Given the description of an element on the screen output the (x, y) to click on. 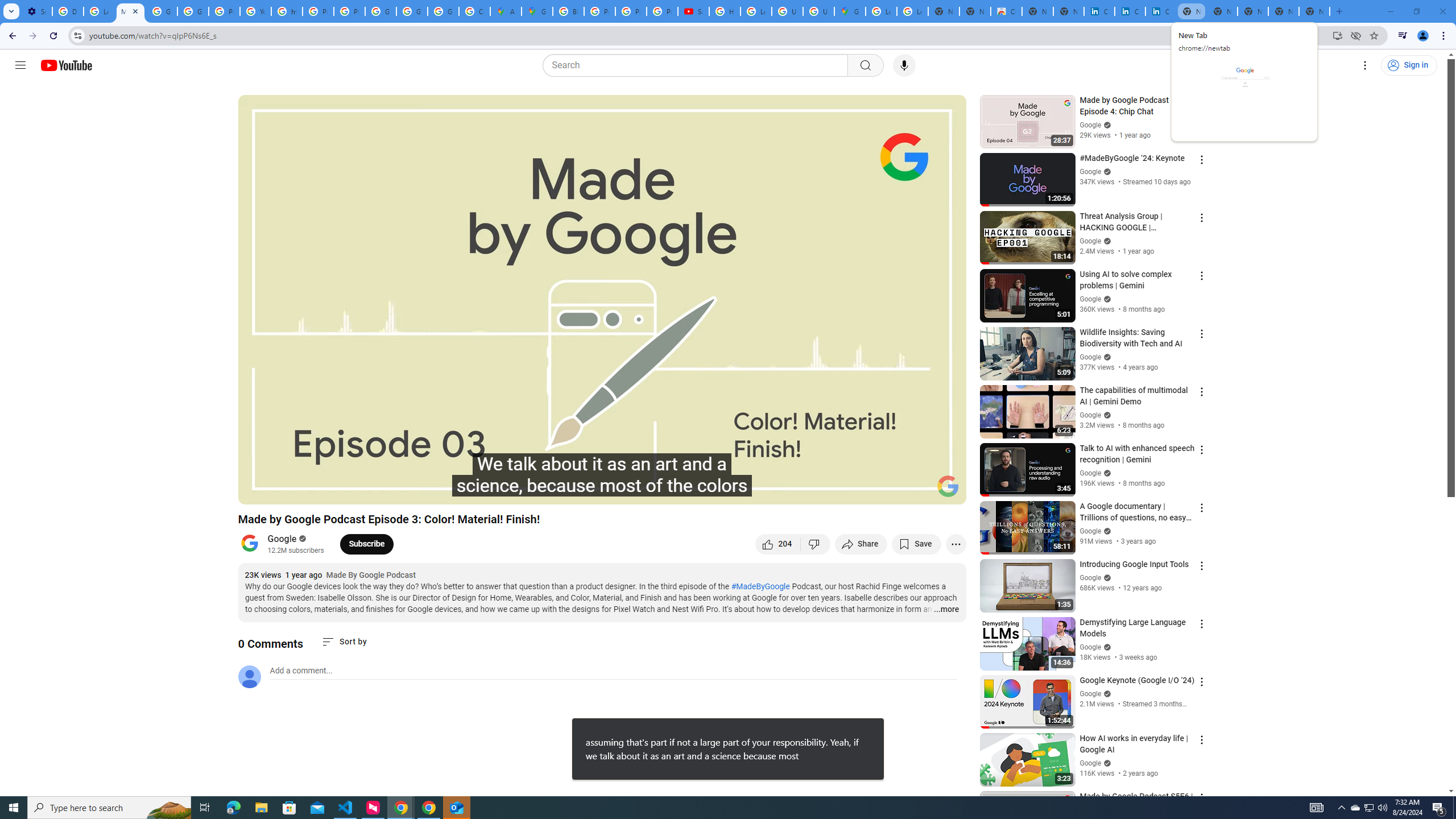
Dislike this video (815, 543)
Back to tab (859, 728)
Guide (20, 65)
AutomationID: 4105 (1316, 807)
Running applications (717, 807)
Outlook (new) - 1 running window (456, 807)
Channel watermark (947, 486)
Channel watermark (1368, 807)
YouTube Home (947, 486)
